Given the description of an element on the screen output the (x, y) to click on. 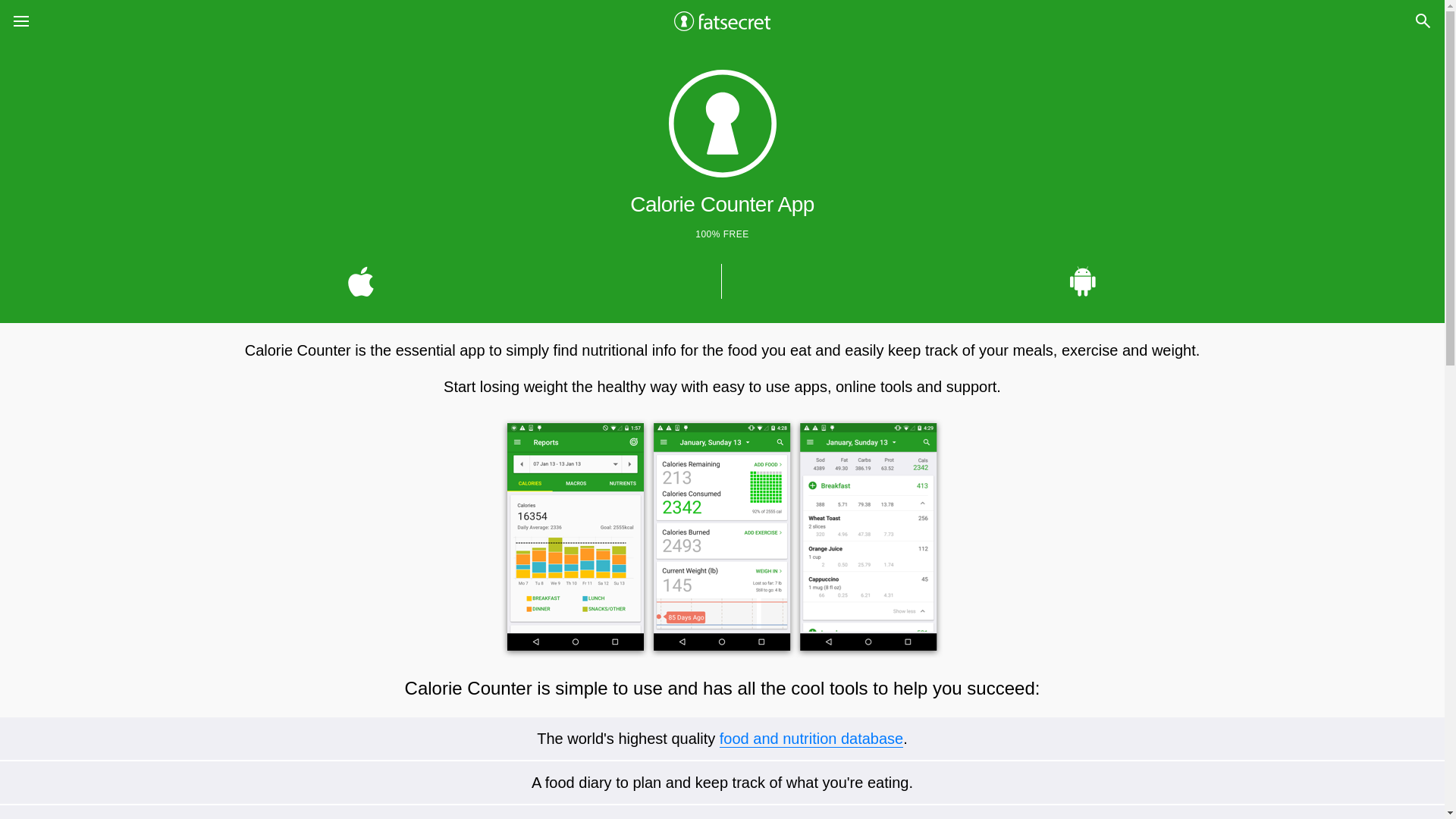
food and nutrition database (810, 738)
